Given the description of an element on the screen output the (x, y) to click on. 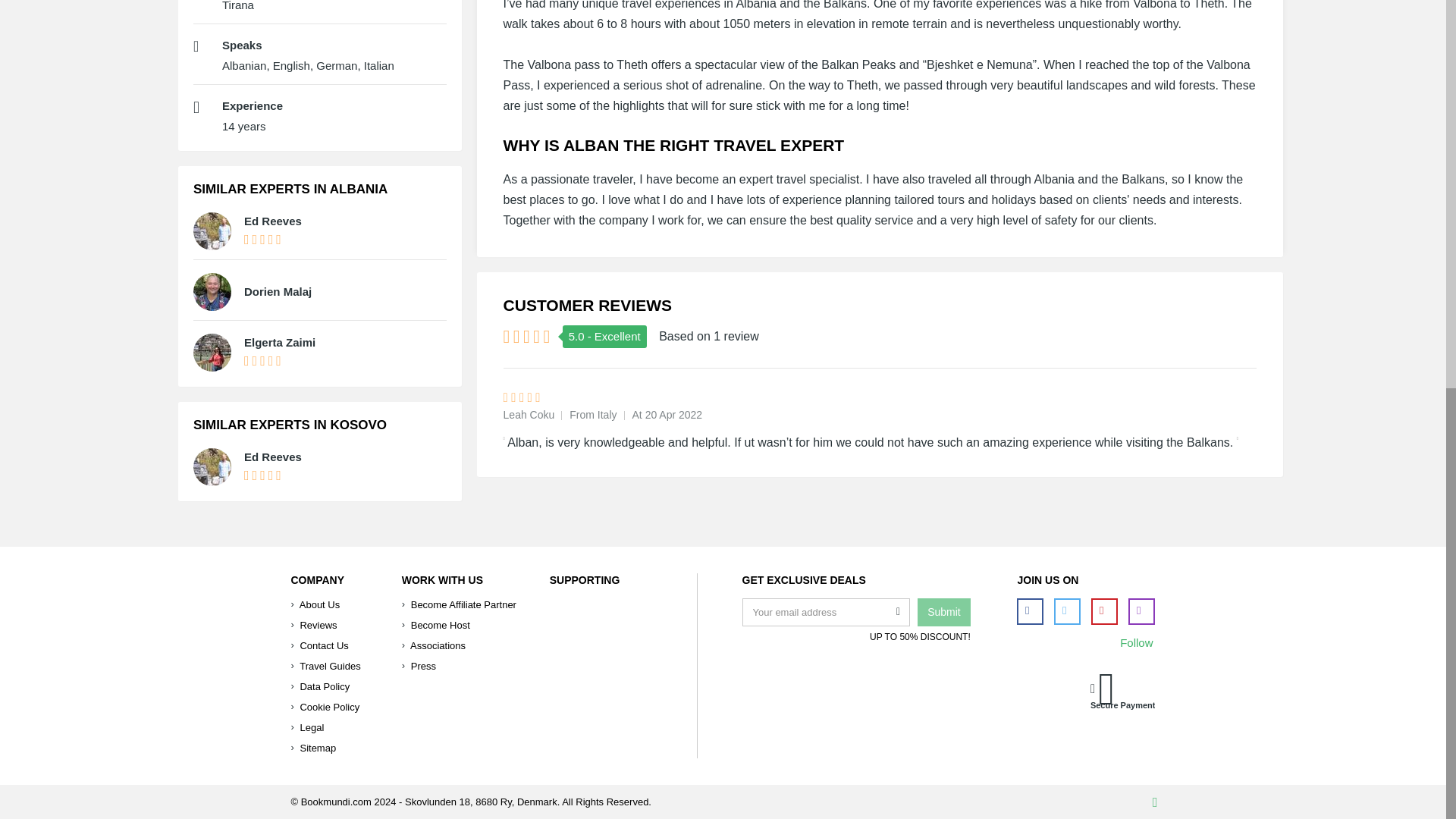
Dorien Malaj (277, 291)
Ed Reeves (272, 220)
Submit (944, 612)
Ed Reeves (272, 456)
Elgerta Zaimi (279, 341)
